Given the description of an element on the screen output the (x, y) to click on. 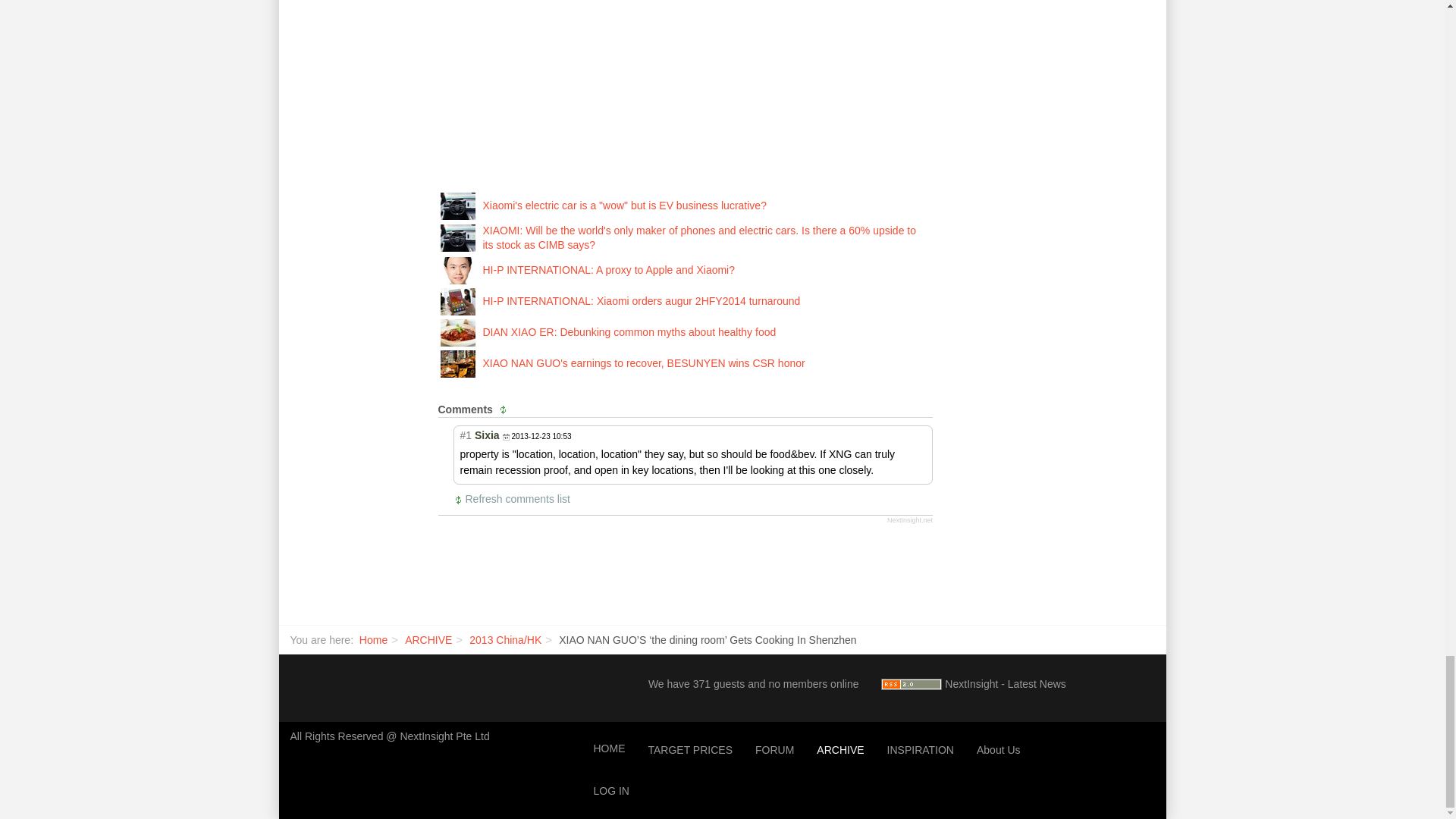
NextInsight.net (909, 520)
HI-P INTERNATIONAL: A proxy to Apple and Xiaomi?  (457, 269)
HI-P INTERNATIONAL: Xiaomi orders augur 2HFY2014 turnaround (640, 300)
HI-P INTERNATIONAL: Xiaomi orders augur 2HFY2014 turnaround (457, 300)
ARCHIVE (427, 639)
Xiaomi's electric car is a  (457, 204)
Refresh comments list (512, 499)
XIAO NAN GUO's earnings to recover, BESUNYEN wins CSR honor (457, 363)
XIAO NAN GUO's earnings to recover, BESUNYEN wins CSR honor (643, 363)
HI-P INTERNATIONAL: A proxy to Apple and Xiaomi? (608, 269)
Refresh comments list (505, 409)
NextInsight.net (909, 520)
HOME (608, 749)
